Given the description of an element on the screen output the (x, y) to click on. 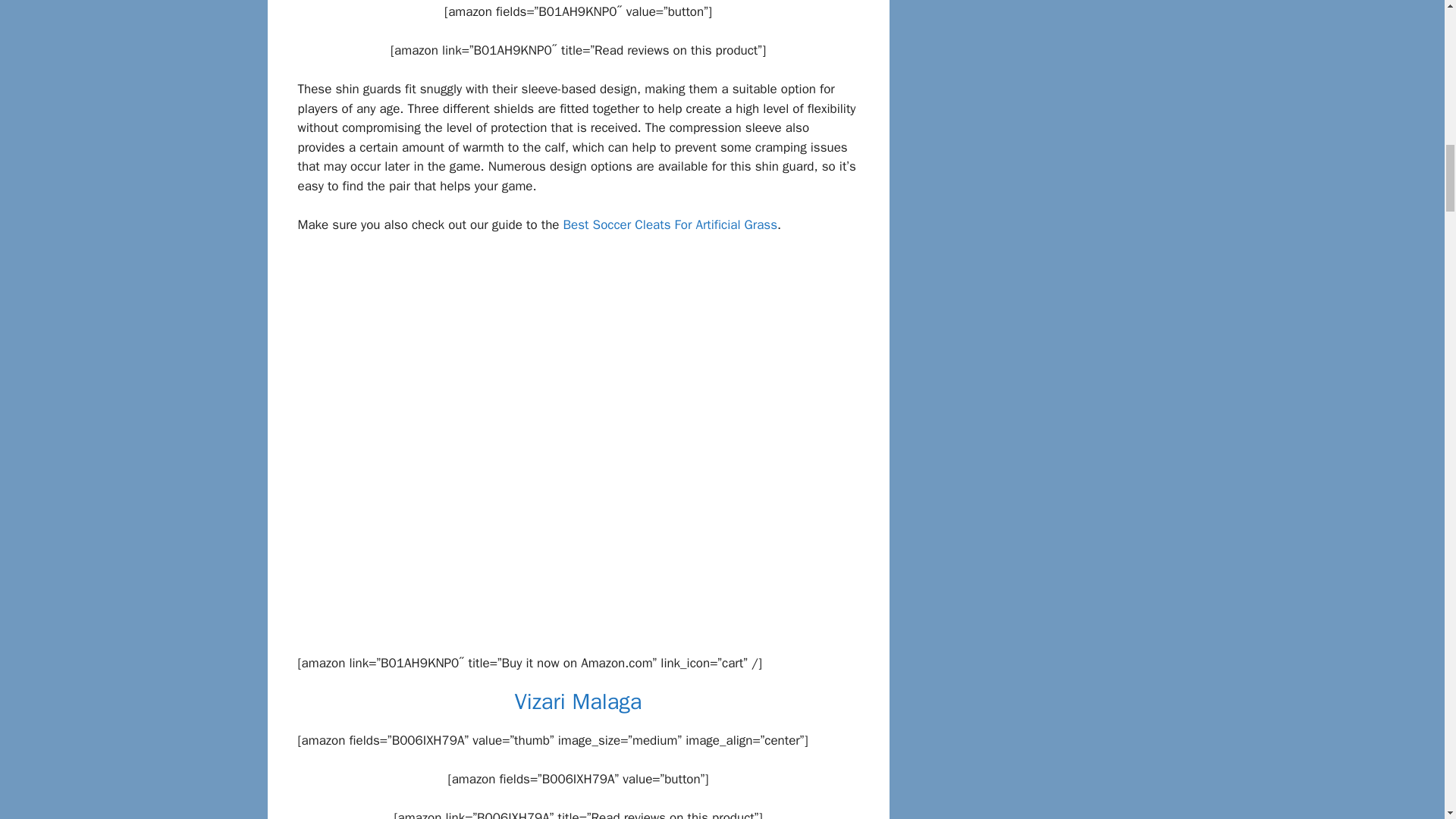
Best Soccer Cleats For Artificial Grass (670, 224)
Vizari Malaga (578, 701)
